Given the description of an element on the screen output the (x, y) to click on. 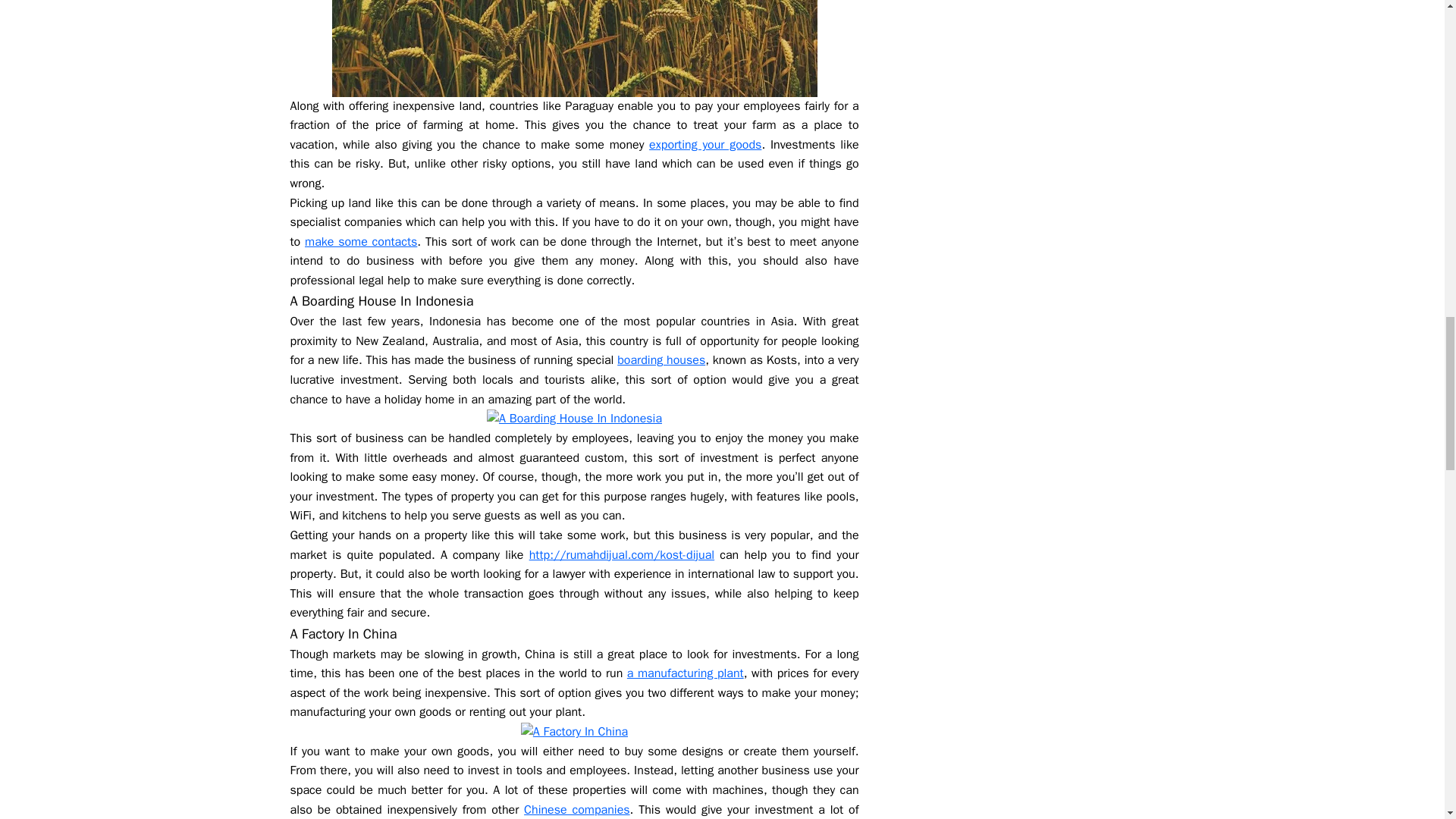
Exploring Investments In International Property (574, 419)
Exploring Investments In International Property (574, 732)
Exploring Investments In International Property (573, 48)
